Given the description of an element on the screen output the (x, y) to click on. 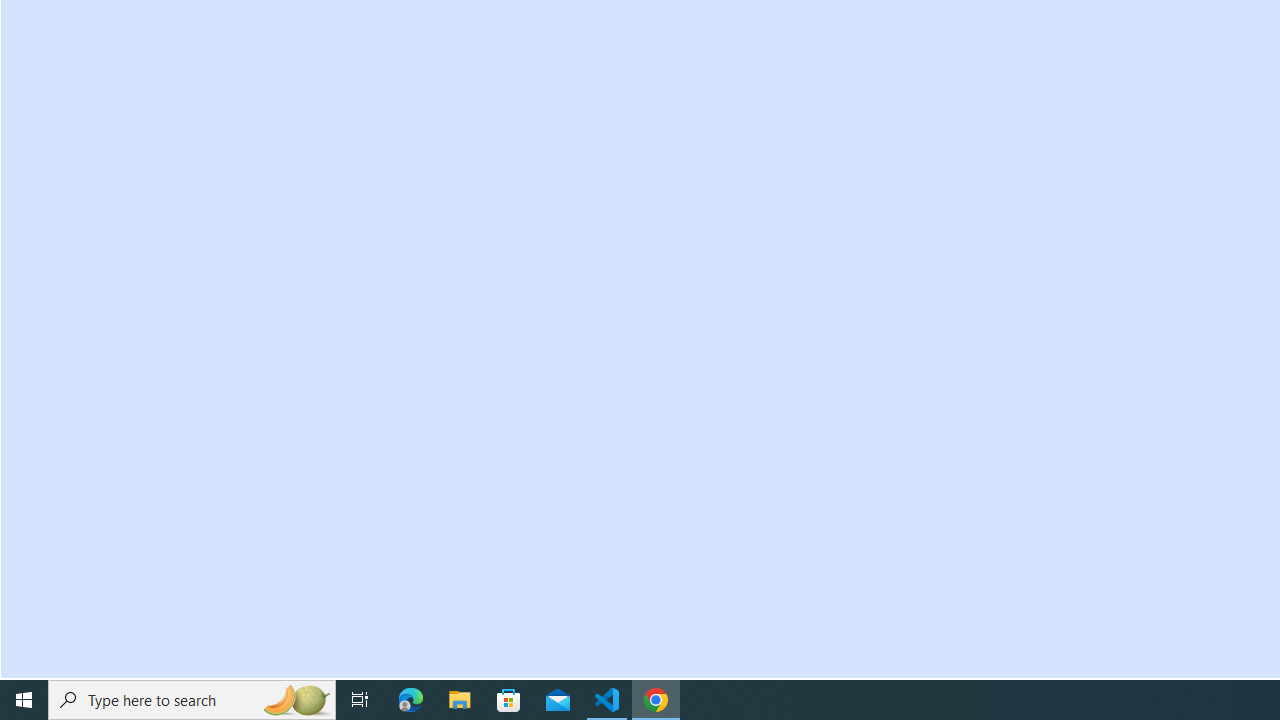
About Chrome (124, 44)
